Given the description of an element on the screen output the (x, y) to click on. 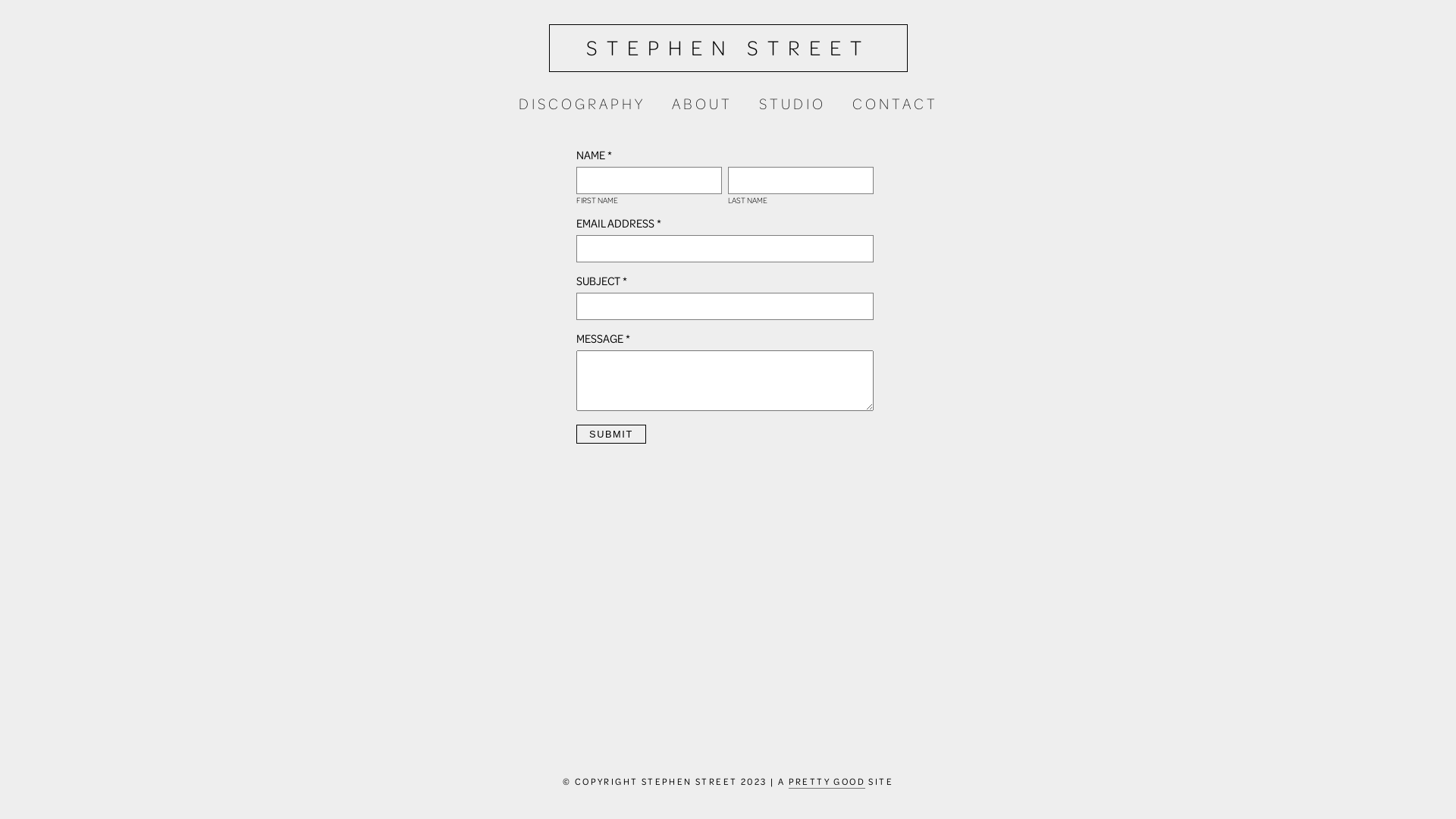
STUDIO Element type: text (791, 103)
DISCOGRAPHY Element type: text (581, 103)
CONTACT Element type: text (895, 103)
PRETTY GOOD Element type: text (826, 781)
STEPHEN STREET Element type: text (727, 48)
SUBMIT Element type: text (611, 433)
ABOUT Element type: text (701, 103)
